Given the description of an element on the screen output the (x, y) to click on. 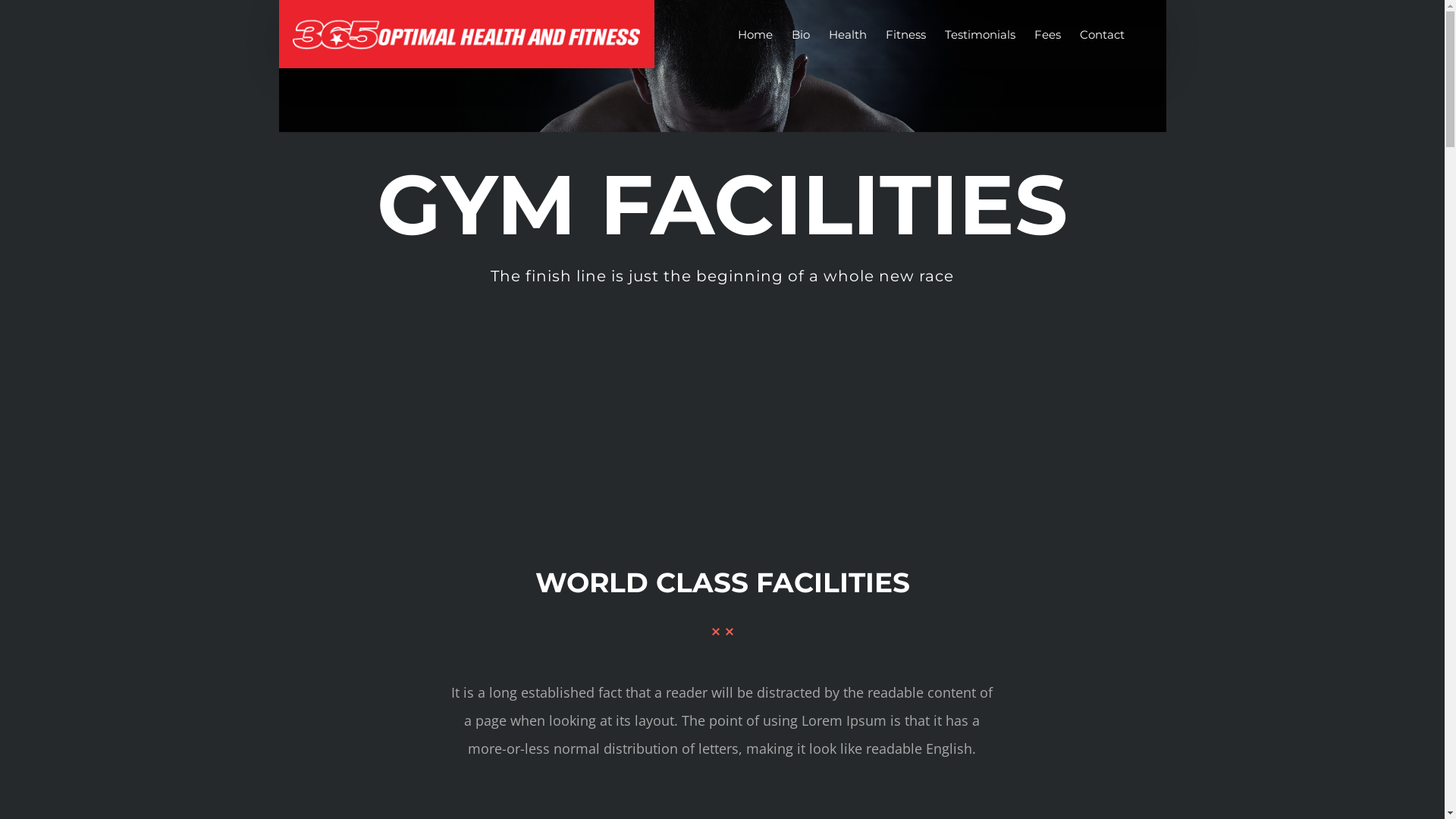
divider-xx-red Element type: hover (722, 631)
Home Element type: text (754, 34)
Fitness Element type: text (905, 34)
Contact Element type: text (1101, 34)
Bio Element type: text (800, 34)
Health Element type: text (847, 34)
Testimonials Element type: text (979, 34)
Fees Element type: text (1047, 34)
